Given the description of an element on the screen output the (x, y) to click on. 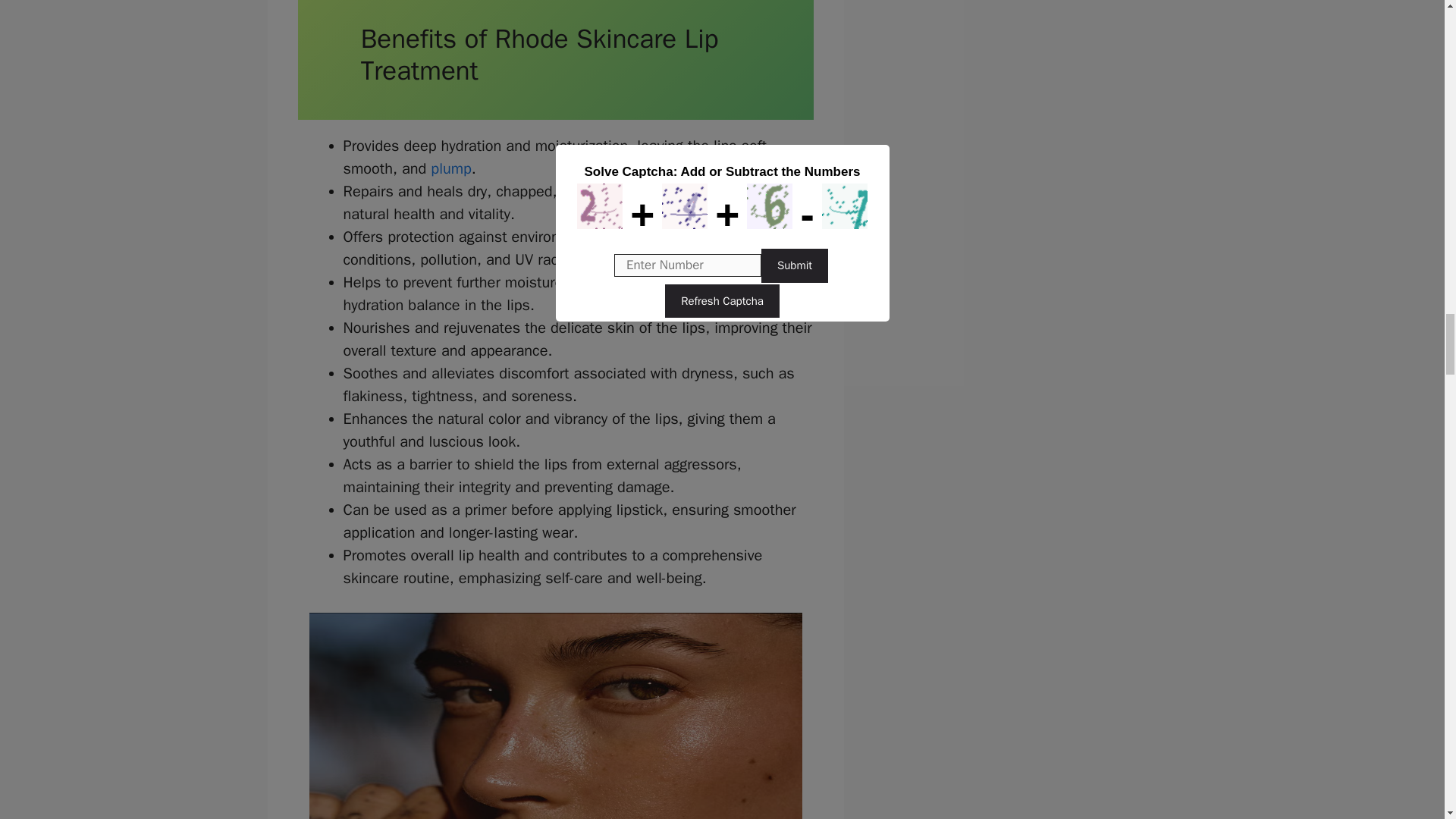
plump (450, 168)
